Given the description of an element on the screen output the (x, y) to click on. 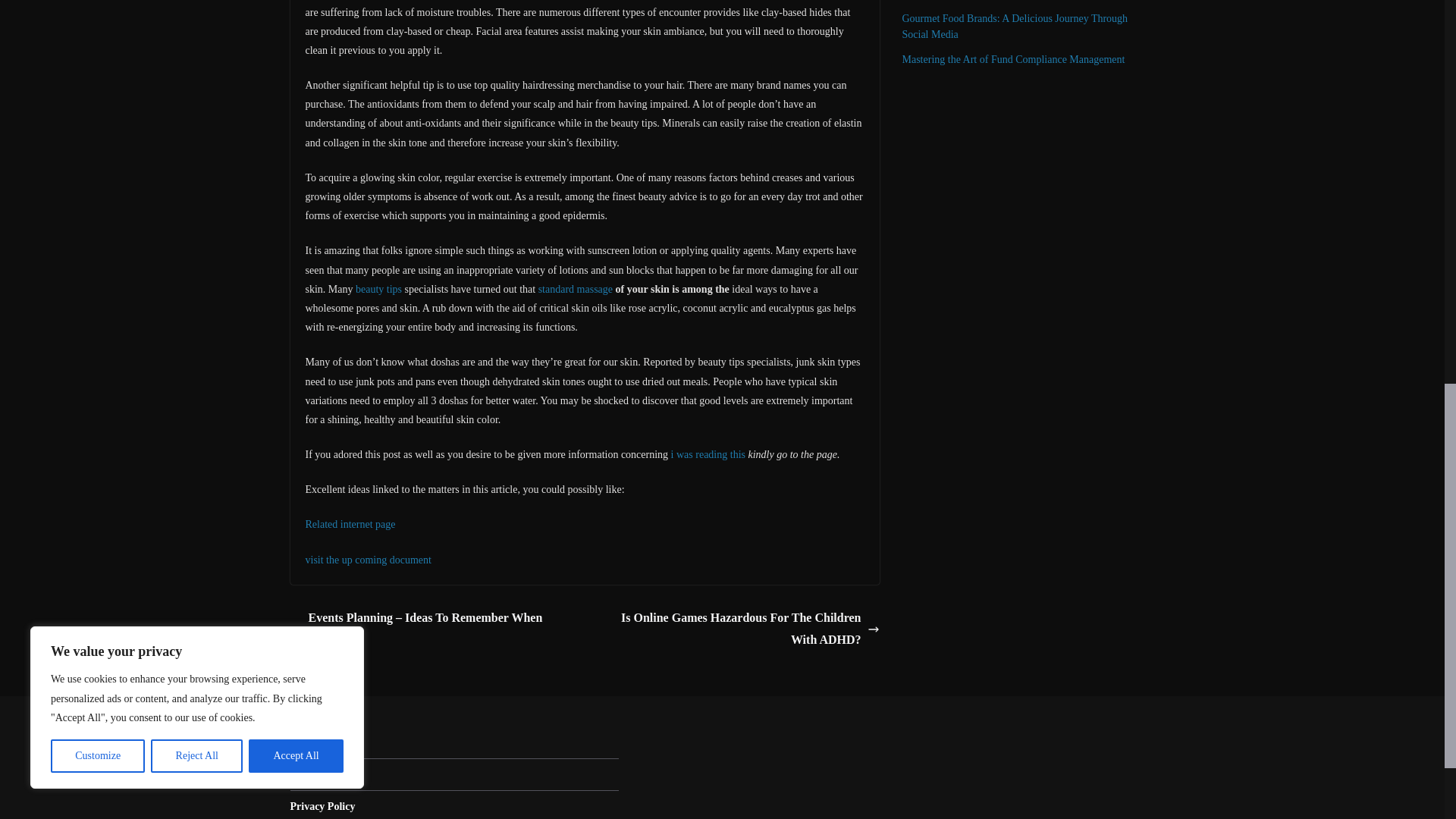
standard massage (575, 288)
Is Online Games Hazardous For The Children With ADHD? (735, 629)
i was reading this (708, 454)
beauty tips (378, 288)
Related internet page (349, 523)
visit the up coming document (367, 559)
